Given the description of an element on the screen output the (x, y) to click on. 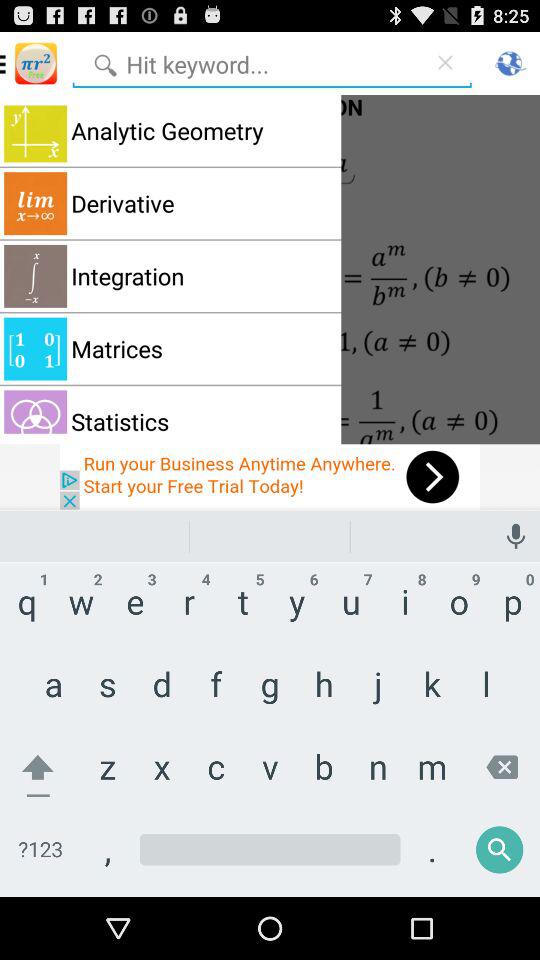
enter keyword to search (247, 61)
